Given the description of an element on the screen output the (x, y) to click on. 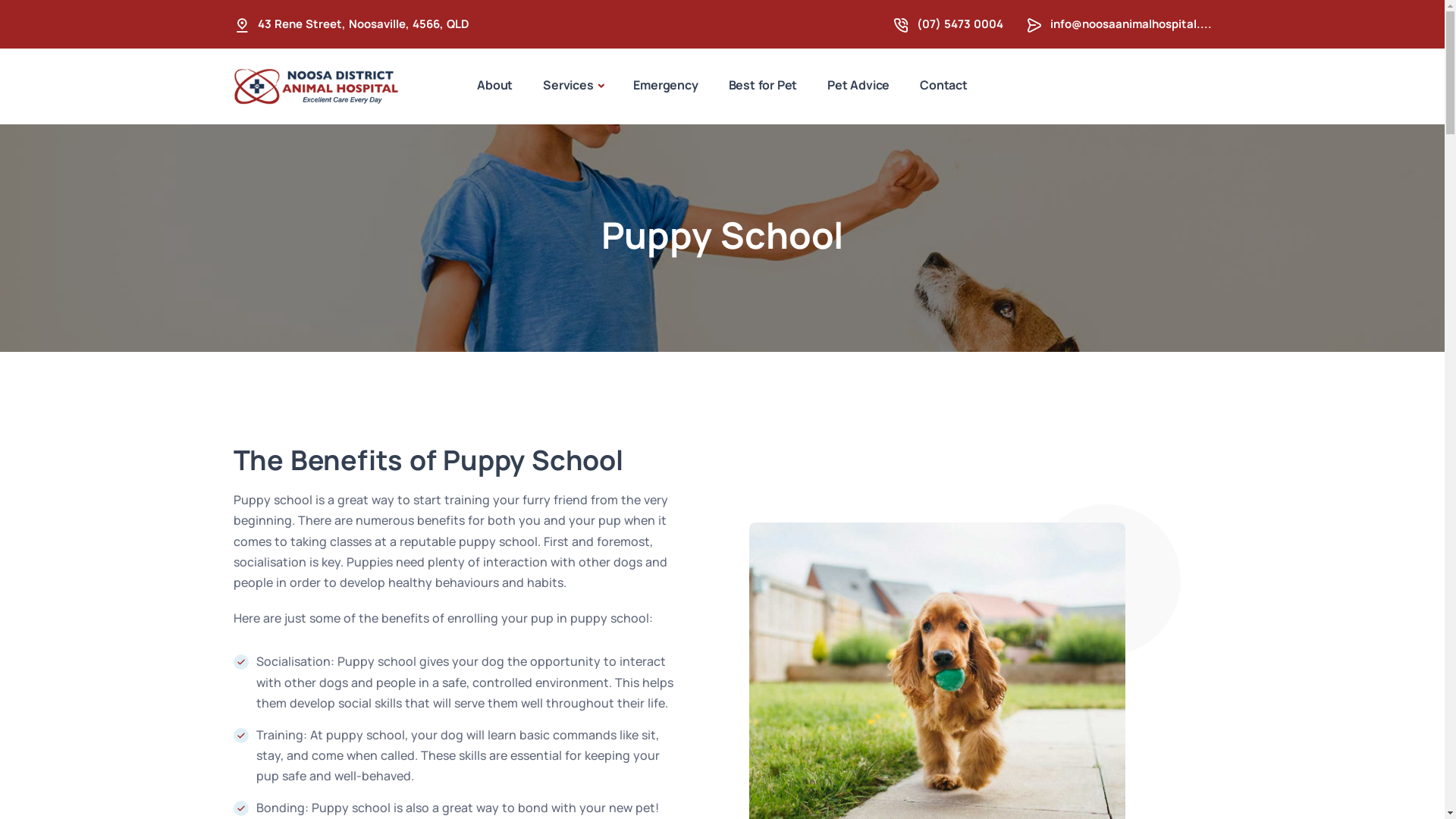
Pet Advice Element type: text (858, 84)
Contact Element type: text (943, 84)
Services Element type: text (572, 86)
(07) 5473 0004 Element type: text (959, 23)
About Element type: text (494, 84)
Emergency Element type: text (665, 84)
43 Rene Street, Noosaville, 4566, QLD Element type: text (363, 23)
Best for Pet Element type: text (762, 84)
info@noosaanimalhospital.... Element type: text (1130, 23)
